Given the description of an element on the screen output the (x, y) to click on. 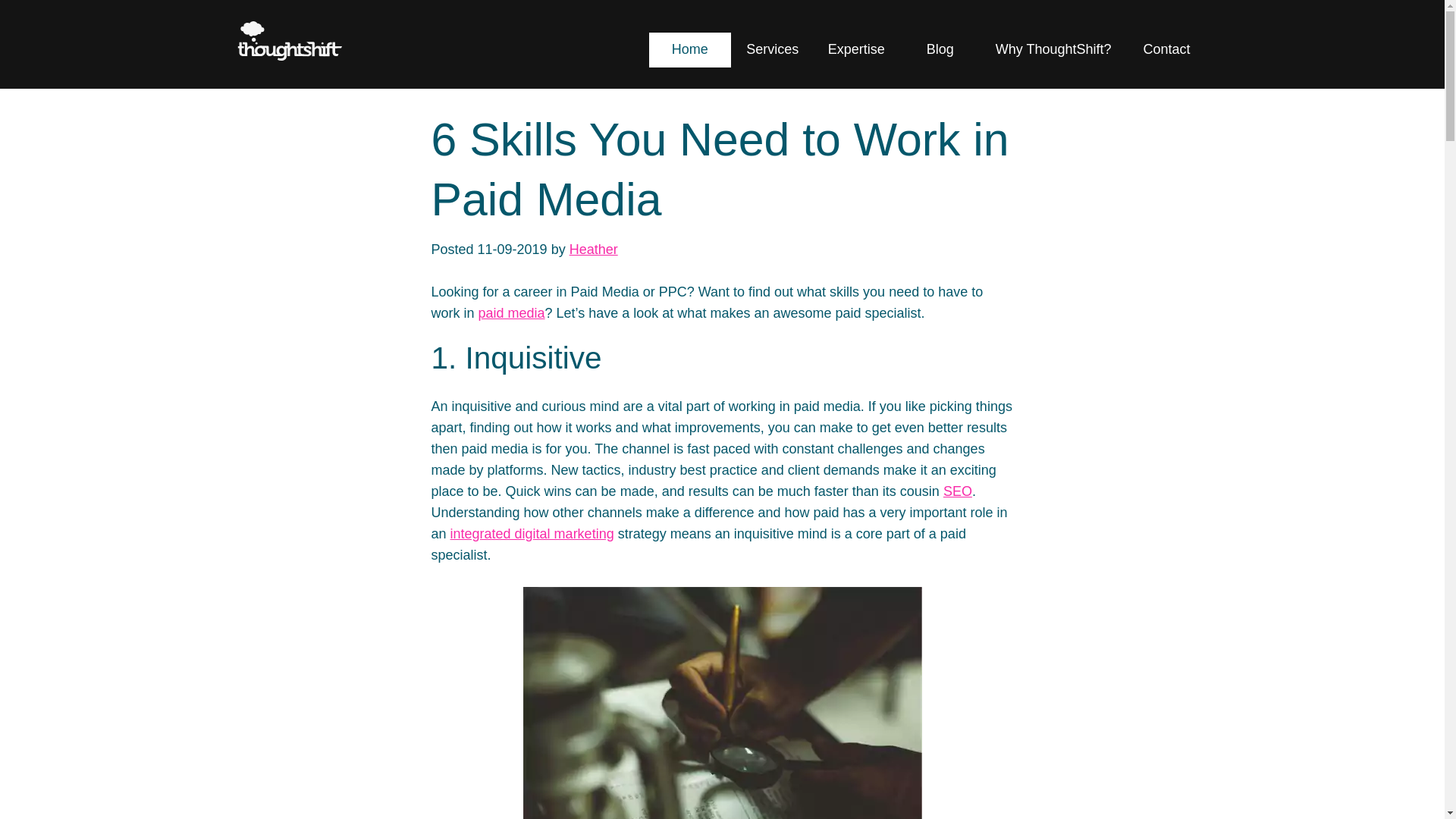
Services (772, 49)
Expertise (855, 49)
Blog (940, 49)
Home (689, 49)
Thoughtshift - Homepage Link (288, 44)
View all posts by Heather Mbarek (593, 249)
